Given the description of an element on the screen output the (x, y) to click on. 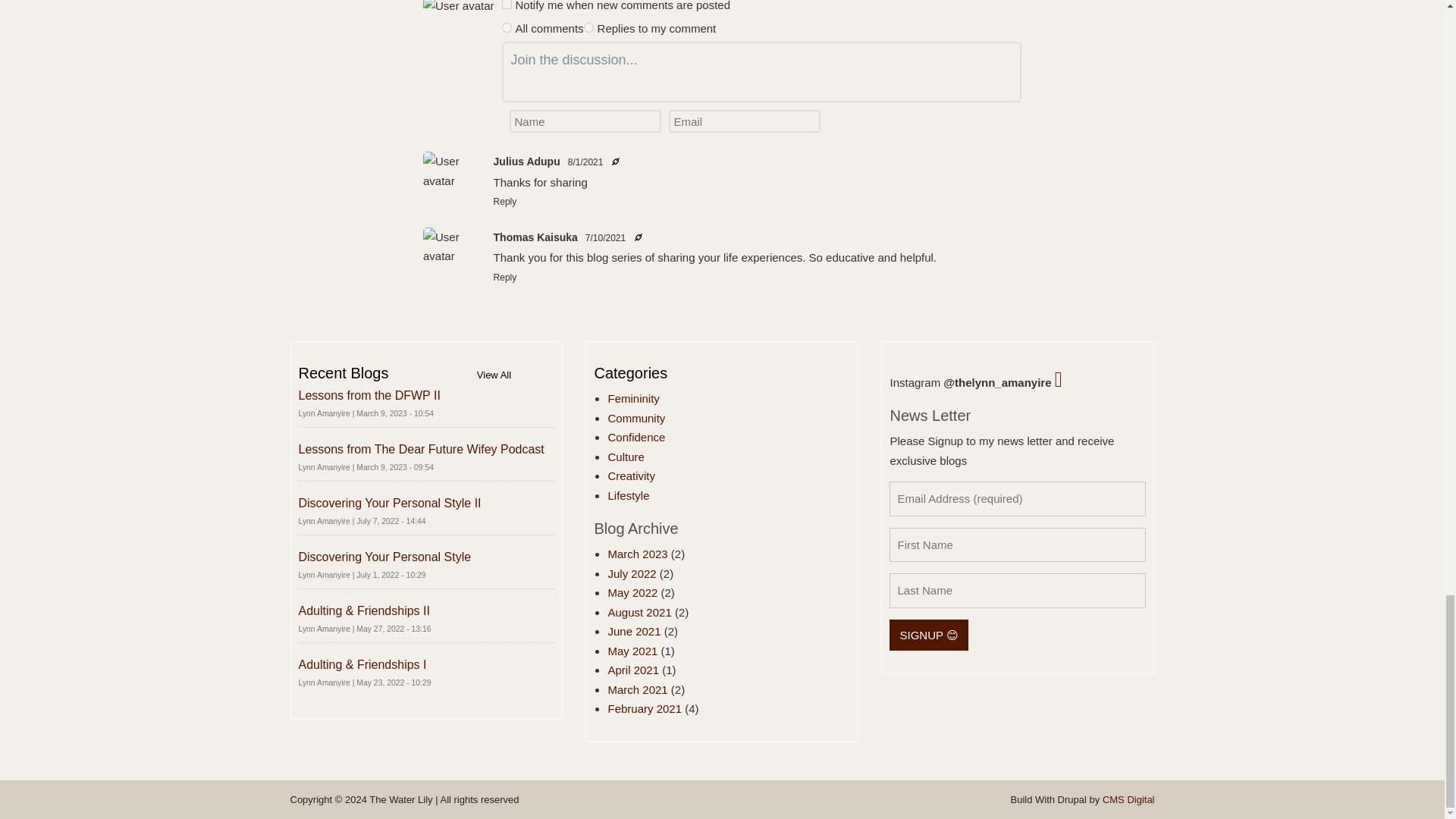
July 2022 (631, 573)
Discovering Your Personal Style II (389, 502)
Confidence (636, 436)
August 2021 (639, 612)
Lessons from The Dear Future Wifey Podcast (421, 449)
Femininity (633, 398)
Lifestyle (628, 495)
Culture (625, 456)
Lessons from the DFWP II (369, 395)
May 2022 (632, 592)
Reply (504, 202)
March 2023 (636, 553)
View All (494, 374)
on (588, 27)
on (507, 4)
